Given the description of an element on the screen output the (x, y) to click on. 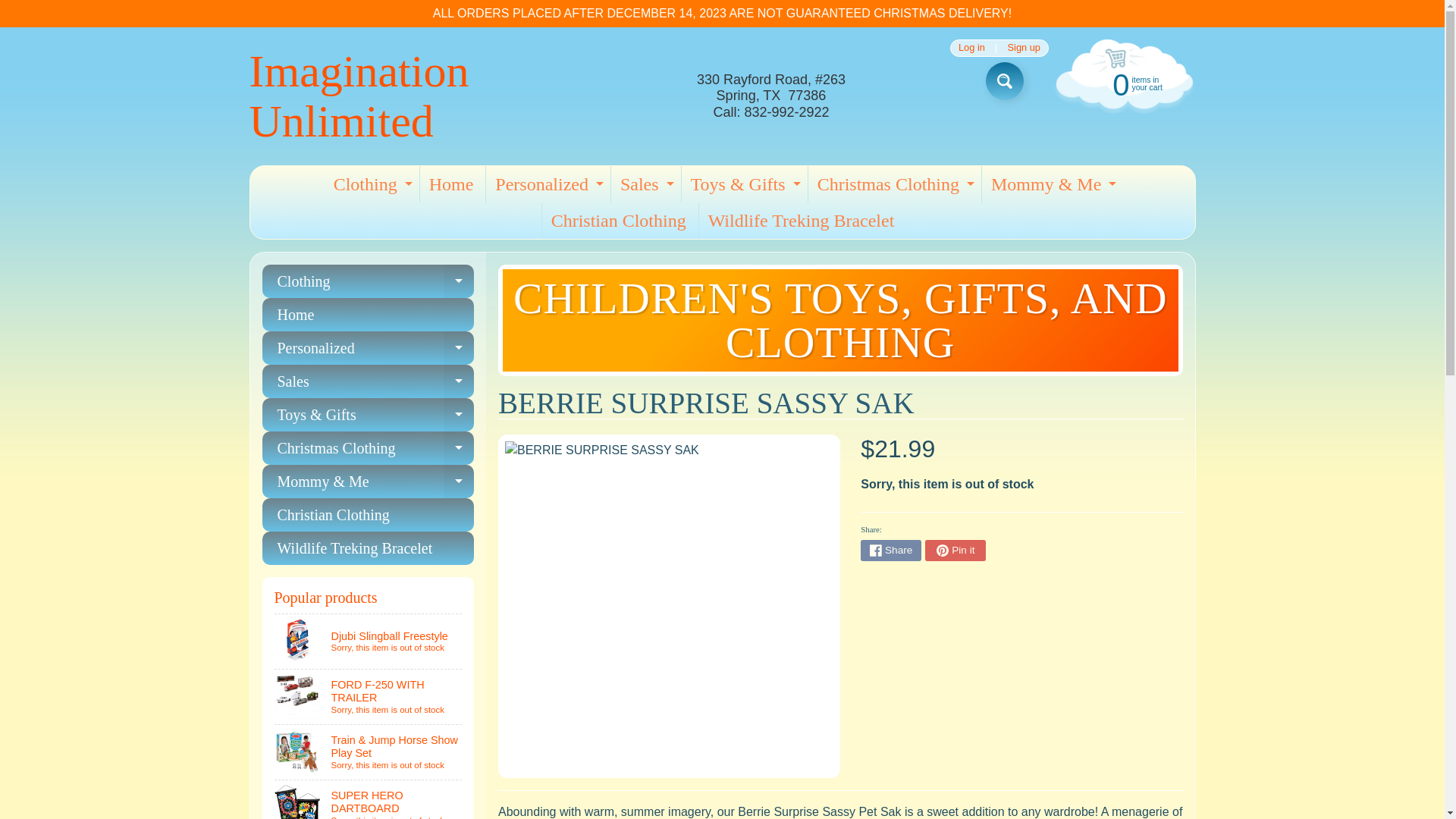
Search (370, 184)
Share on Facebook (1004, 80)
Search (890, 550)
Sign up (1004, 80)
SUPER HERO DARTBOARD (1024, 48)
Home (369, 799)
Djubi Slingball Freestyle (451, 184)
Log in (369, 641)
Imagination Unlimited (546, 184)
Imagination Unlimited (970, 48)
FORD F-250 WITH TRAILER (1122, 83)
